Given the description of an element on the screen output the (x, y) to click on. 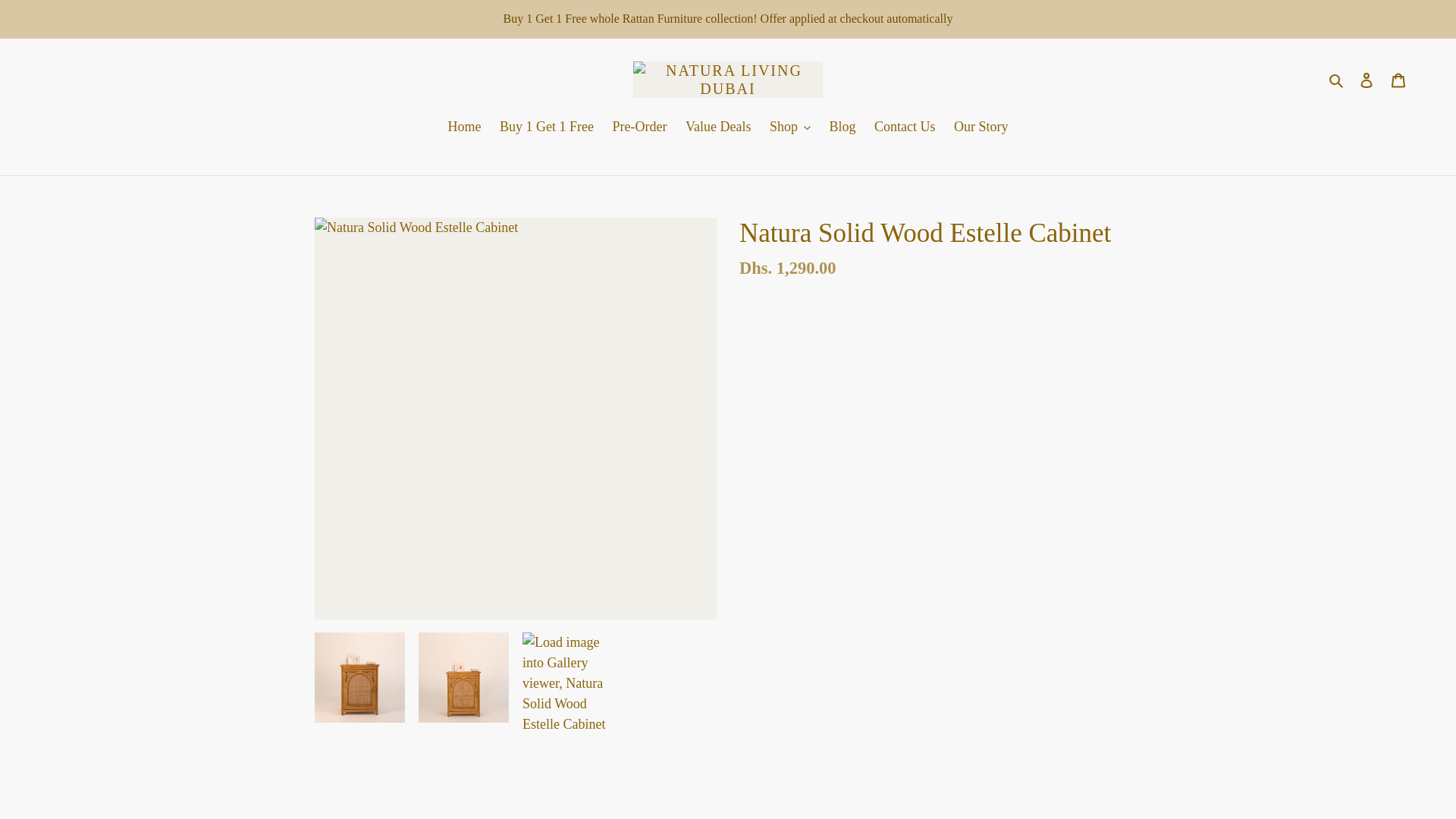
Cart (1397, 79)
Log in (1366, 79)
Search (1337, 78)
